Given the description of an element on the screen output the (x, y) to click on. 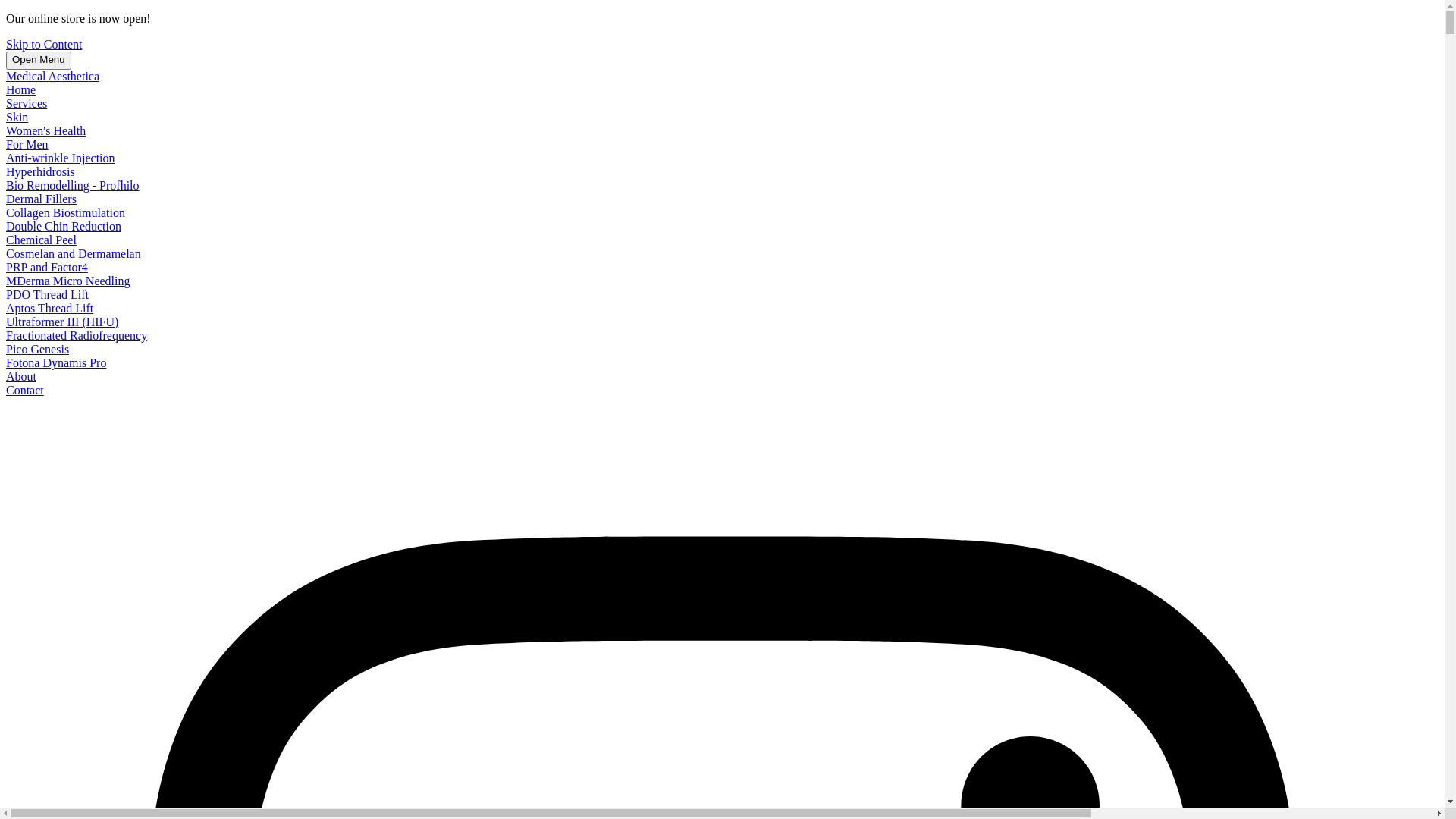
Services Element type: text (26, 103)
MDerma Micro Needling Element type: text (68, 280)
Double Chin Reduction Element type: text (63, 225)
Hyperhidrosis Element type: text (40, 171)
Contact Element type: text (24, 389)
Anti-wrinkle Injection Element type: text (60, 157)
Open Menu Element type: text (38, 60)
Dermal Fillers Element type: text (41, 198)
PDO Thread Lift Element type: text (47, 294)
Fotona Dynamis Pro Element type: text (56, 362)
Skip to Content Element type: text (43, 43)
Home Element type: text (20, 89)
Women's Health Element type: text (45, 130)
Bio Remodelling - Profhilo Element type: text (72, 184)
About Element type: text (21, 376)
Collagen Biostimulation Element type: text (65, 212)
Fractionated Radiofrequency Element type: text (76, 335)
Chemical Peel Element type: text (41, 239)
Ultraformer III (HIFU) Element type: text (62, 321)
Medical Aesthetica Element type: text (52, 75)
Cosmelan and Dermamelan Element type: text (73, 253)
Aptos Thread Lift Element type: text (49, 307)
Skin Element type: text (17, 116)
Pico Genesis Element type: text (37, 348)
PRP and Factor4 Element type: text (46, 266)
For Men Element type: text (27, 144)
